Given the description of an element on the screen output the (x, y) to click on. 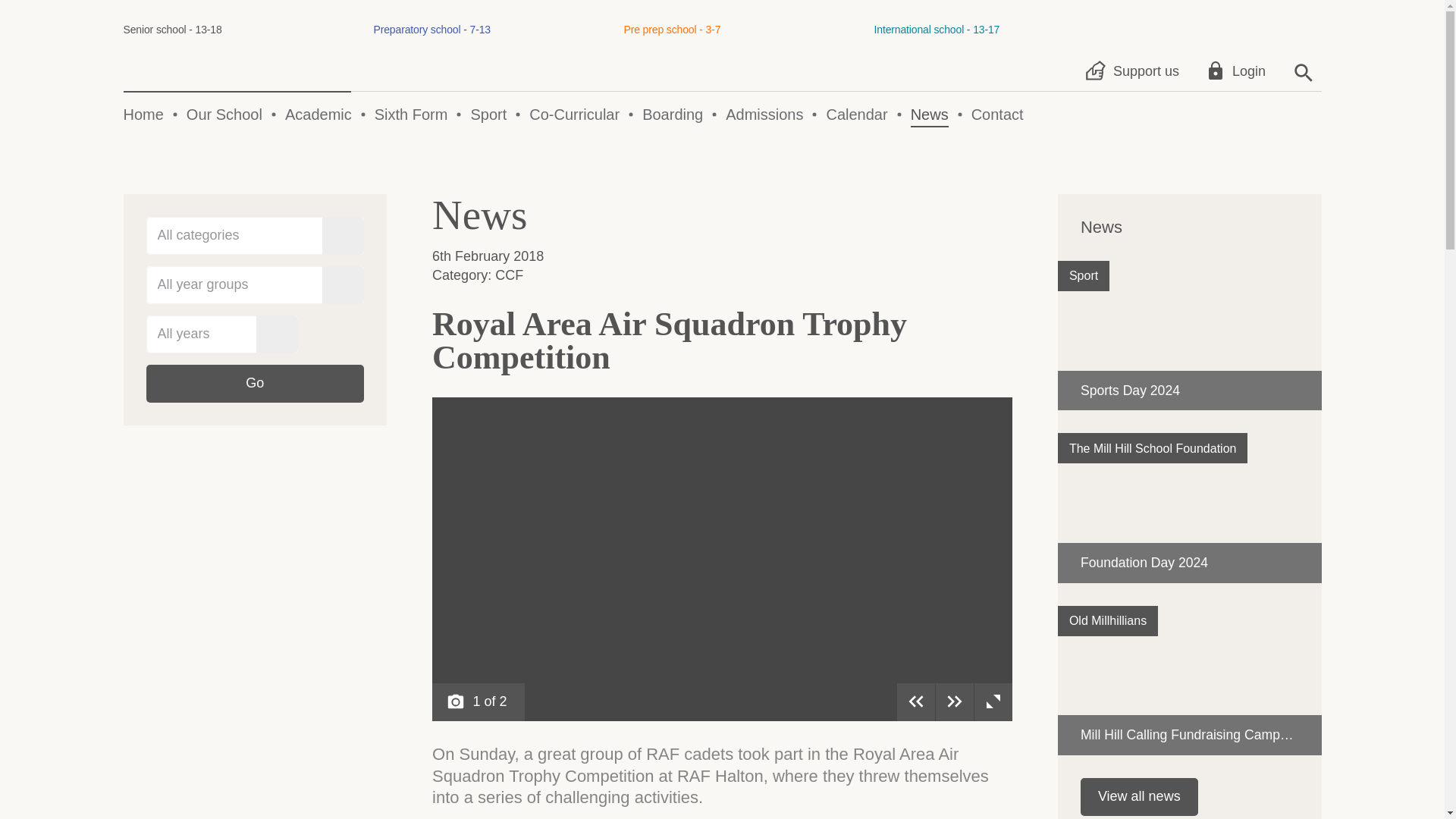
News (930, 114)
Next image (955, 702)
Previous image (915, 702)
Academic (318, 114)
Search (1301, 71)
Mill Hill Calling Fundraising Campaign (1190, 680)
Calendar (986, 50)
Expand (855, 114)
Old Millhillians (992, 702)
Go (1107, 621)
Sport (254, 383)
Login (1083, 276)
Our School (1237, 71)
Support us (224, 114)
